Given the description of an element on the screen output the (x, y) to click on. 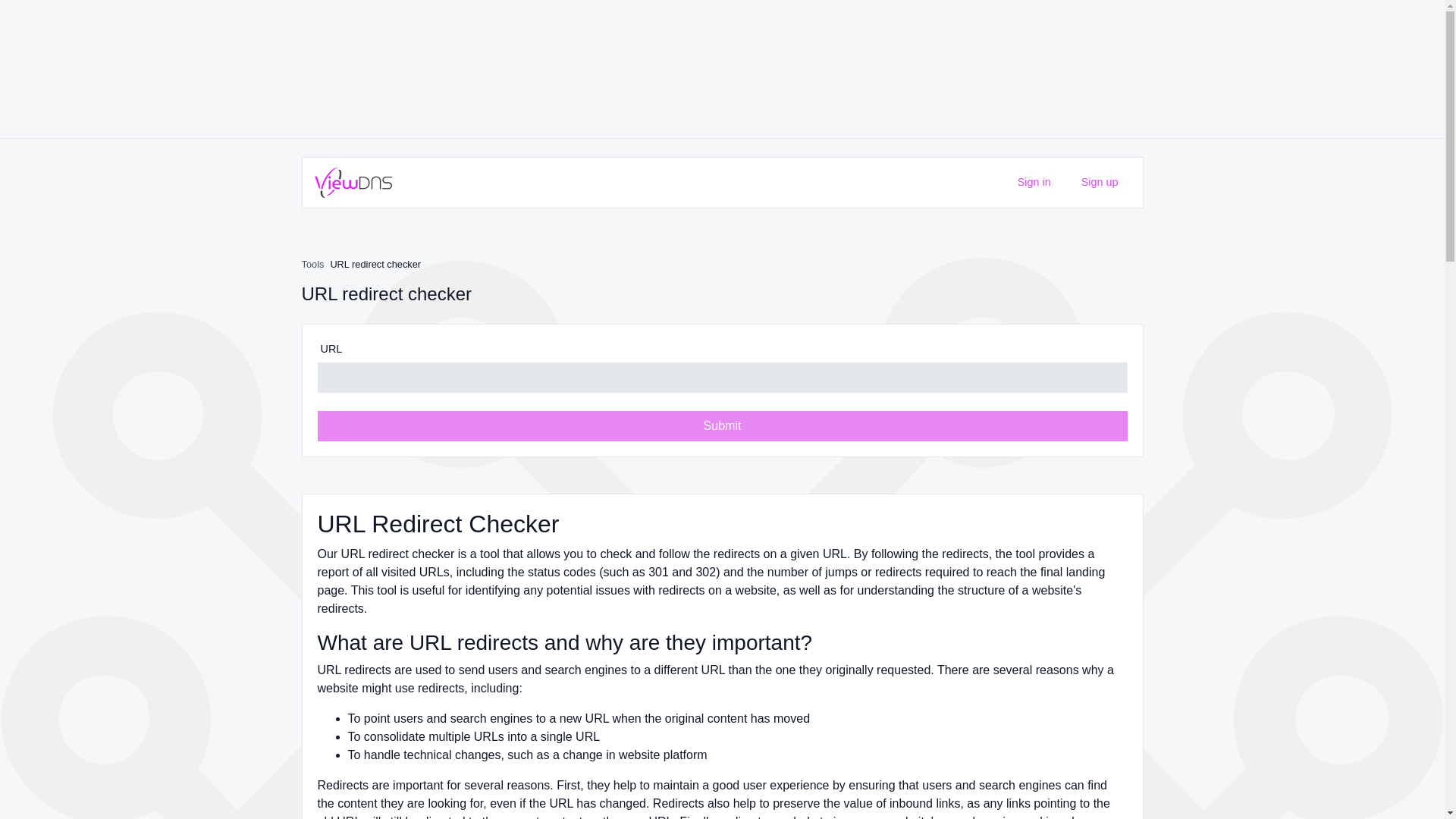
Tools (312, 264)
Sign in (1030, 182)
Sign up (1096, 182)
Submit (721, 426)
